Given the description of an element on the screen output the (x, y) to click on. 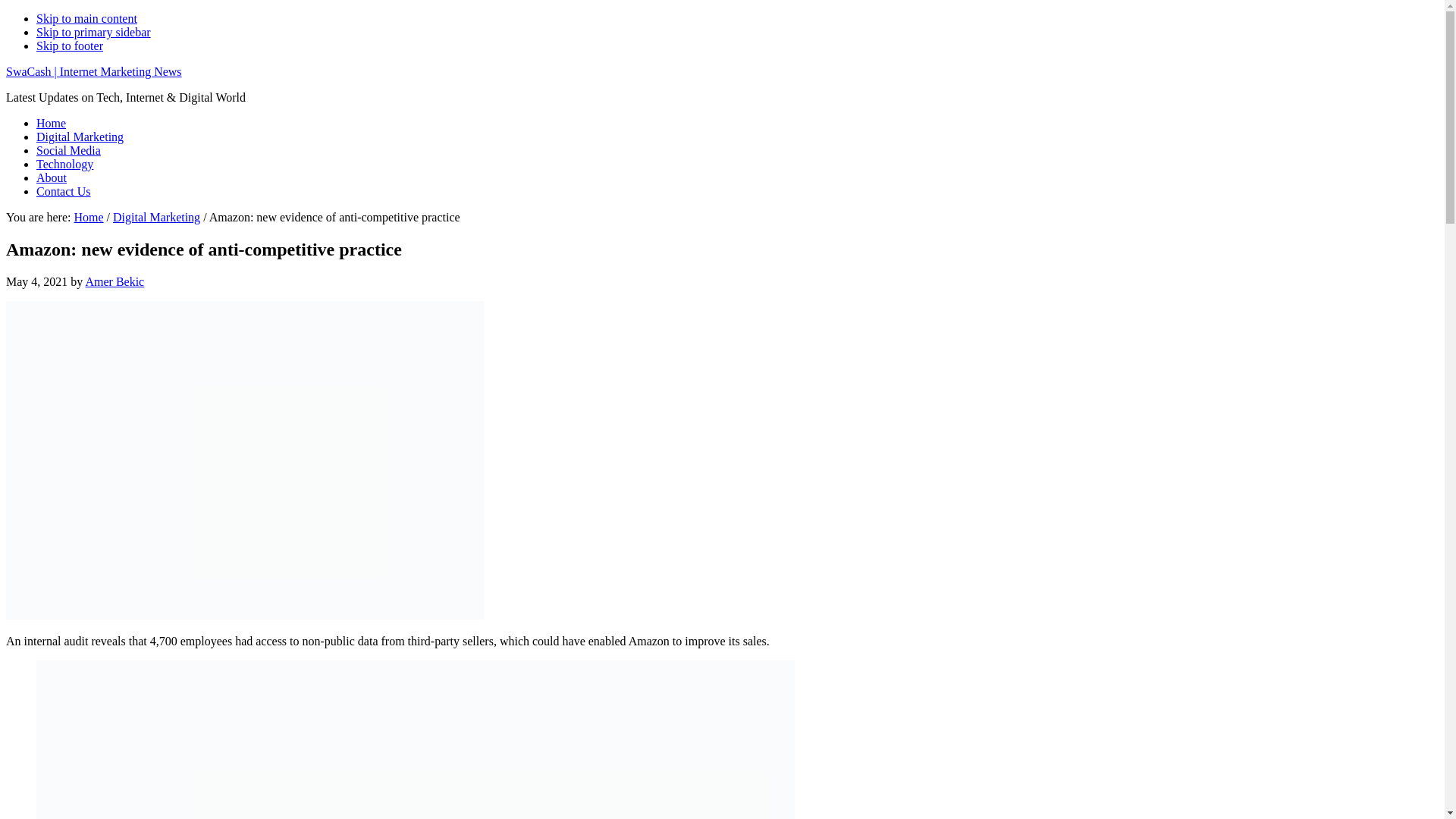
Skip to footer (69, 45)
Contact Us (63, 191)
Technology (64, 164)
Skip to main content (86, 18)
Social Media (68, 150)
Digital Marketing (156, 216)
Skip to primary sidebar (93, 31)
Amer Bekic (114, 281)
Home (50, 123)
Digital Marketing (79, 136)
